Given the description of an element on the screen output the (x, y) to click on. 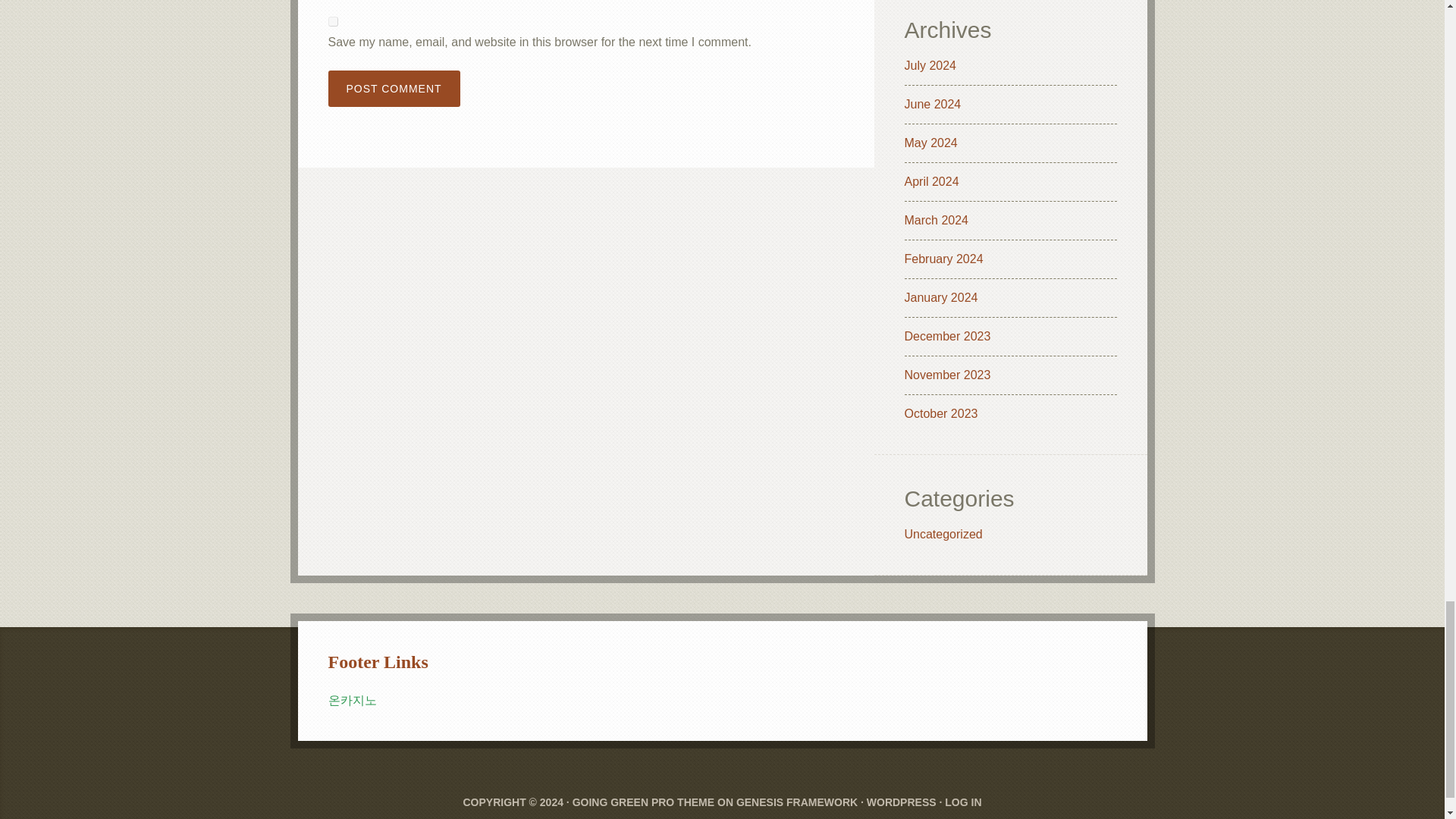
January 2024 (940, 297)
February 2024 (943, 258)
July 2024 (930, 65)
November 2023 (947, 374)
WORDPRESS (901, 802)
Uncategorized (942, 533)
December 2023 (947, 336)
GENESIS FRAMEWORK (796, 802)
October 2023 (940, 413)
Post Comment (393, 88)
